Given the description of an element on the screen output the (x, y) to click on. 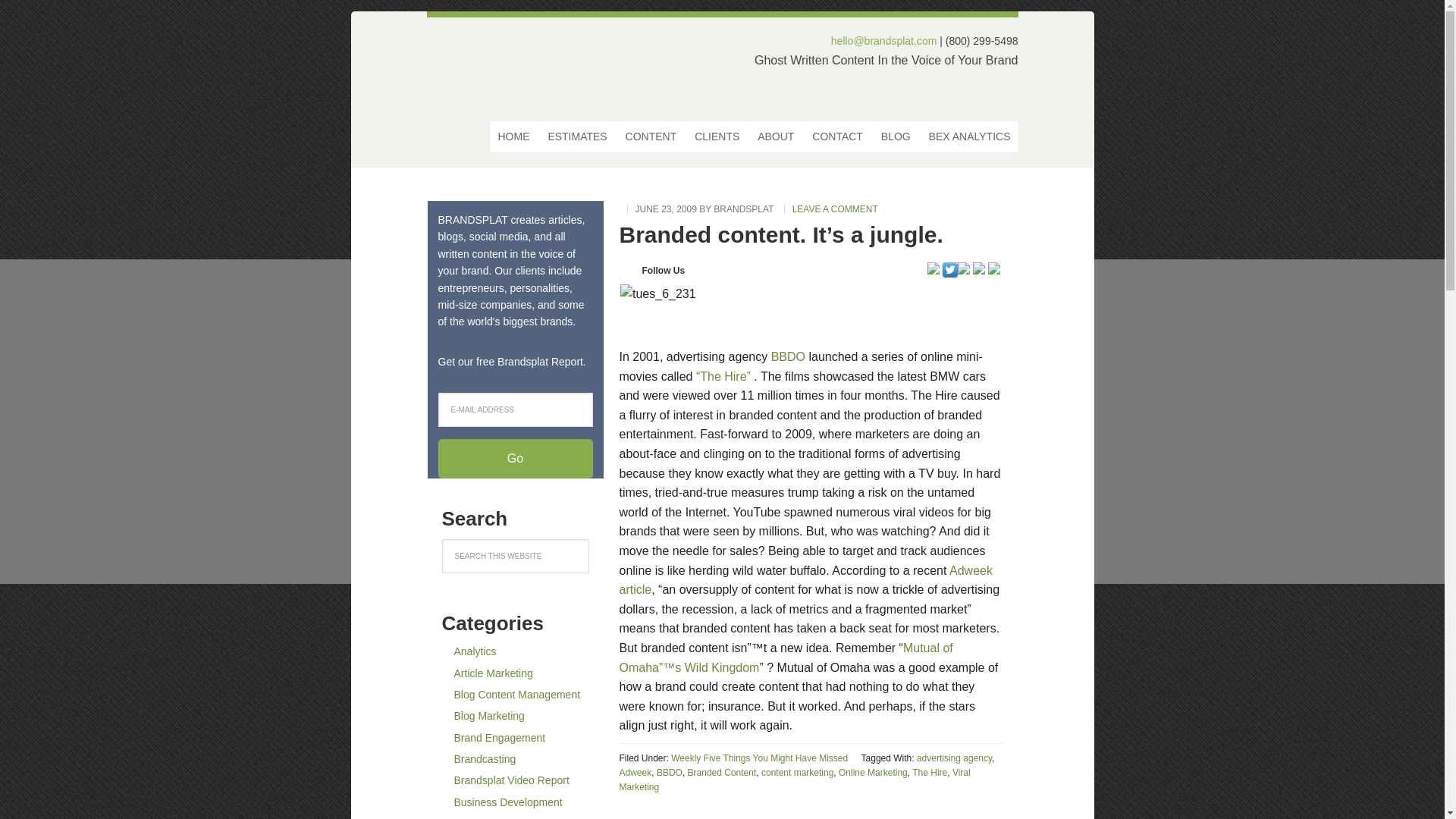
Blog Content Management (515, 694)
The Hire (929, 772)
Article Marketing (492, 673)
Blog Marketing (488, 715)
Adweek article (804, 580)
CLIENTS (716, 136)
Brand Engagement (498, 737)
Brandcasting (483, 758)
CONTACT (837, 136)
BLOG (895, 136)
Adweek (634, 772)
Branded Content (722, 772)
Weekly Five Things You Might Have Missed (759, 757)
Brandsplat (509, 83)
BBDO (669, 772)
